Given the description of an element on the screen output the (x, y) to click on. 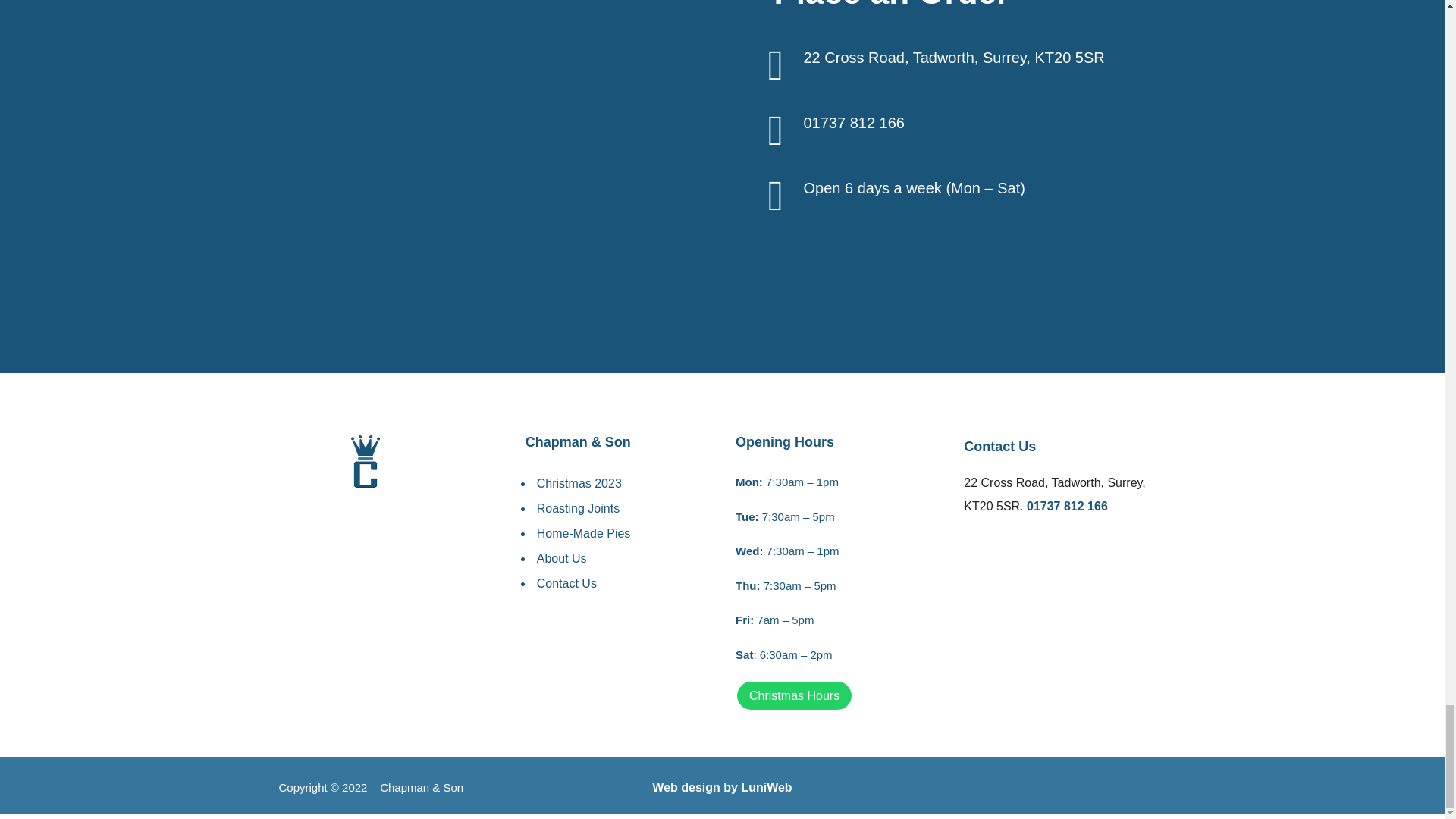
01737 812 166 (853, 122)
Christmas 2023 (579, 482)
01737 812 166 (1067, 505)
Web design by LuniWeb (722, 787)
Contact Us (566, 583)
Home-Made Pies (583, 533)
Roasting Joints (578, 508)
About Us (561, 558)
Christmas Hours (794, 695)
